Given the description of an element on the screen output the (x, y) to click on. 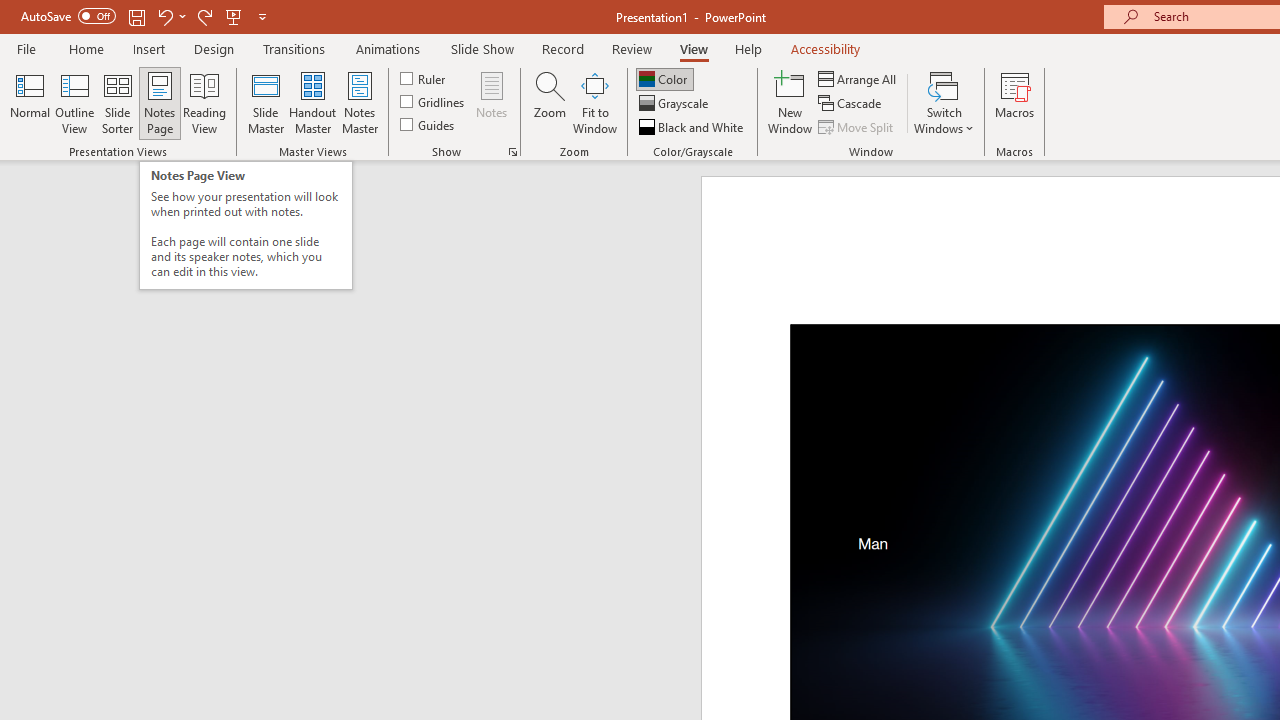
Gridlines (433, 101)
Fit to Window (594, 102)
Notes Master (360, 102)
